Given the description of an element on the screen output the (x, y) to click on. 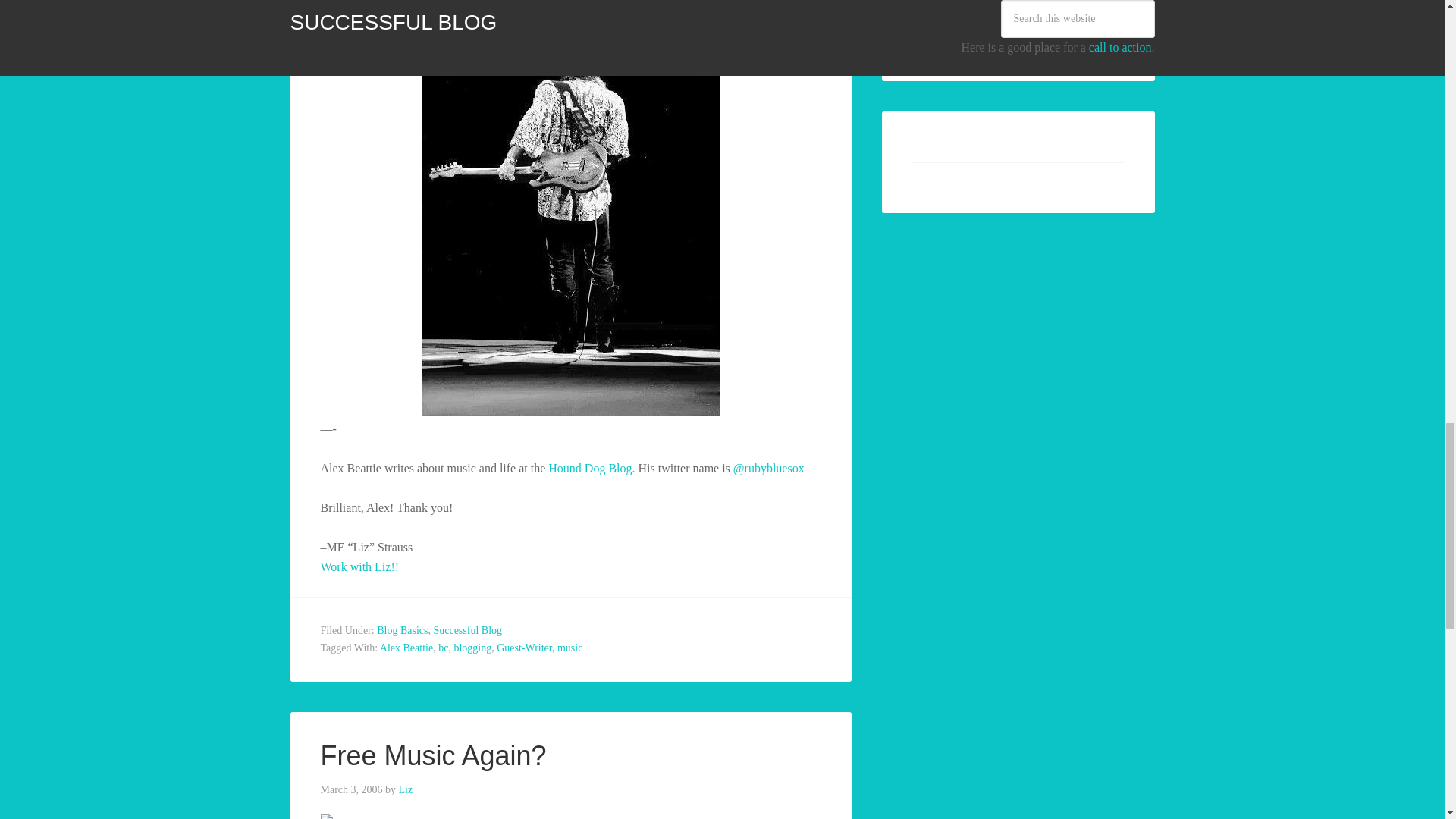
blogging (472, 647)
Work with Liz!! (359, 566)
Alex Beattie (406, 647)
Successful Blog (467, 630)
Hound Dog Blog. (592, 468)
Guest-Writer (523, 647)
Liz (405, 789)
music (569, 647)
Free Music Again? (433, 755)
Blog Basics (402, 630)
